Given the description of an element on the screen output the (x, y) to click on. 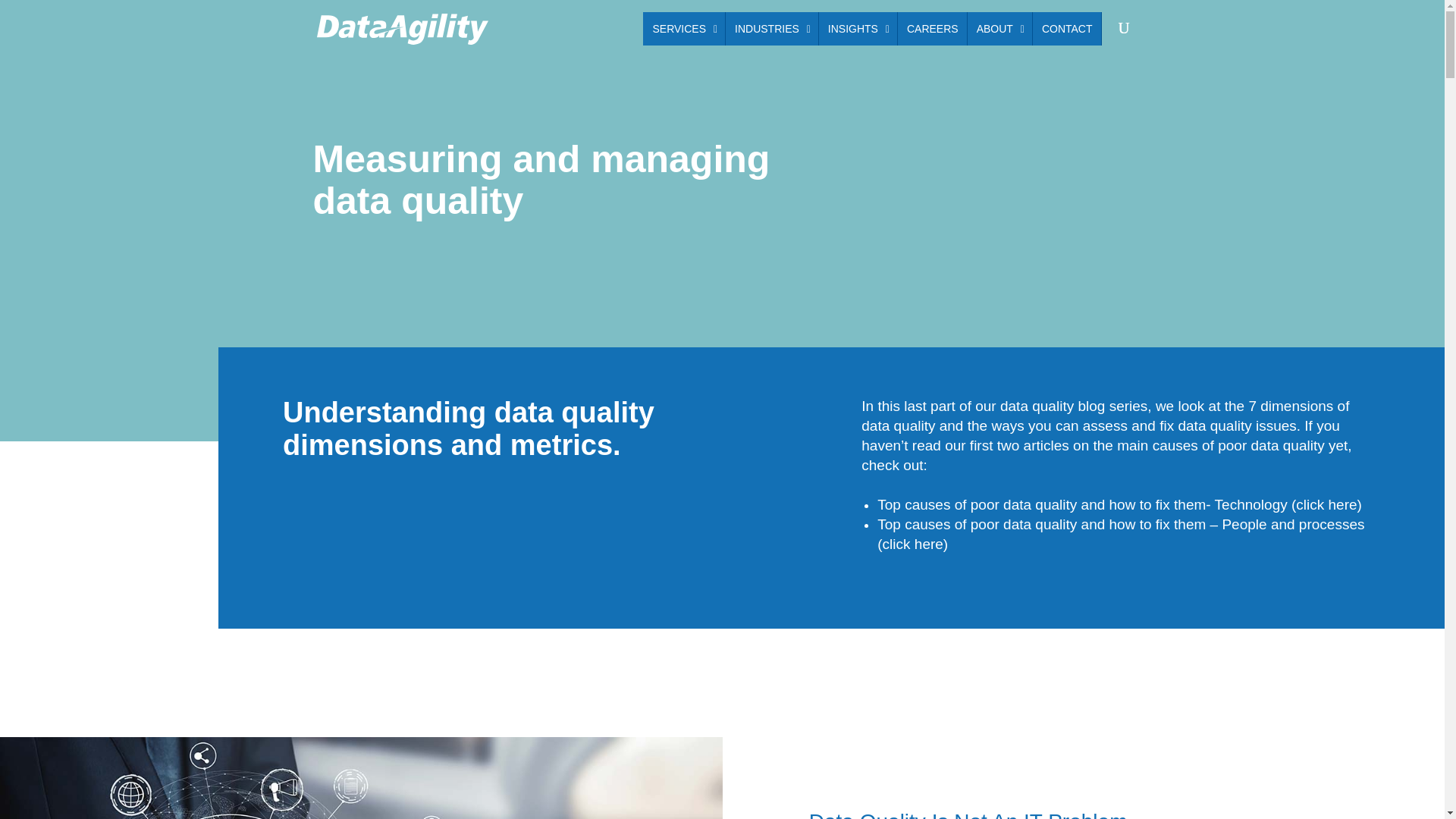
CONTACT (1066, 28)
SERVICES (684, 28)
INSIGHTS (857, 28)
ABOUT (1000, 28)
INDUSTRIES (771, 28)
How to build a data platform - FB (871, 28)
CAREERS (361, 778)
